Given the description of an element on the screen output the (x, y) to click on. 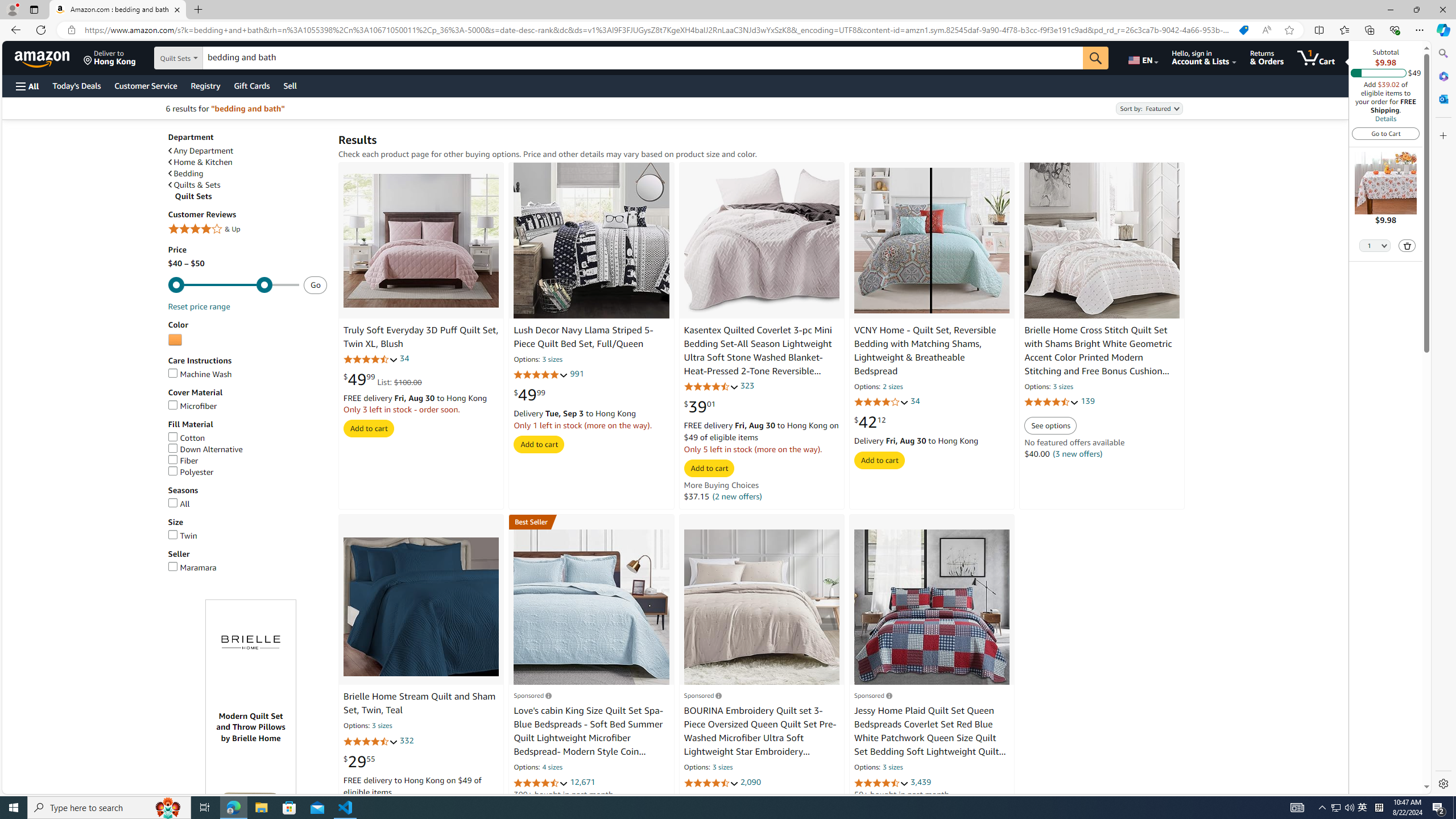
Maramara (247, 567)
Twin (182, 535)
Orange (174, 340)
Deliver to Hong Kong (109, 57)
View Sponsored information or leave ad feedback (872, 695)
Quilt Sets (250, 196)
$42.12 (869, 421)
$39.01 (700, 406)
